Given the description of an element on the screen output the (x, y) to click on. 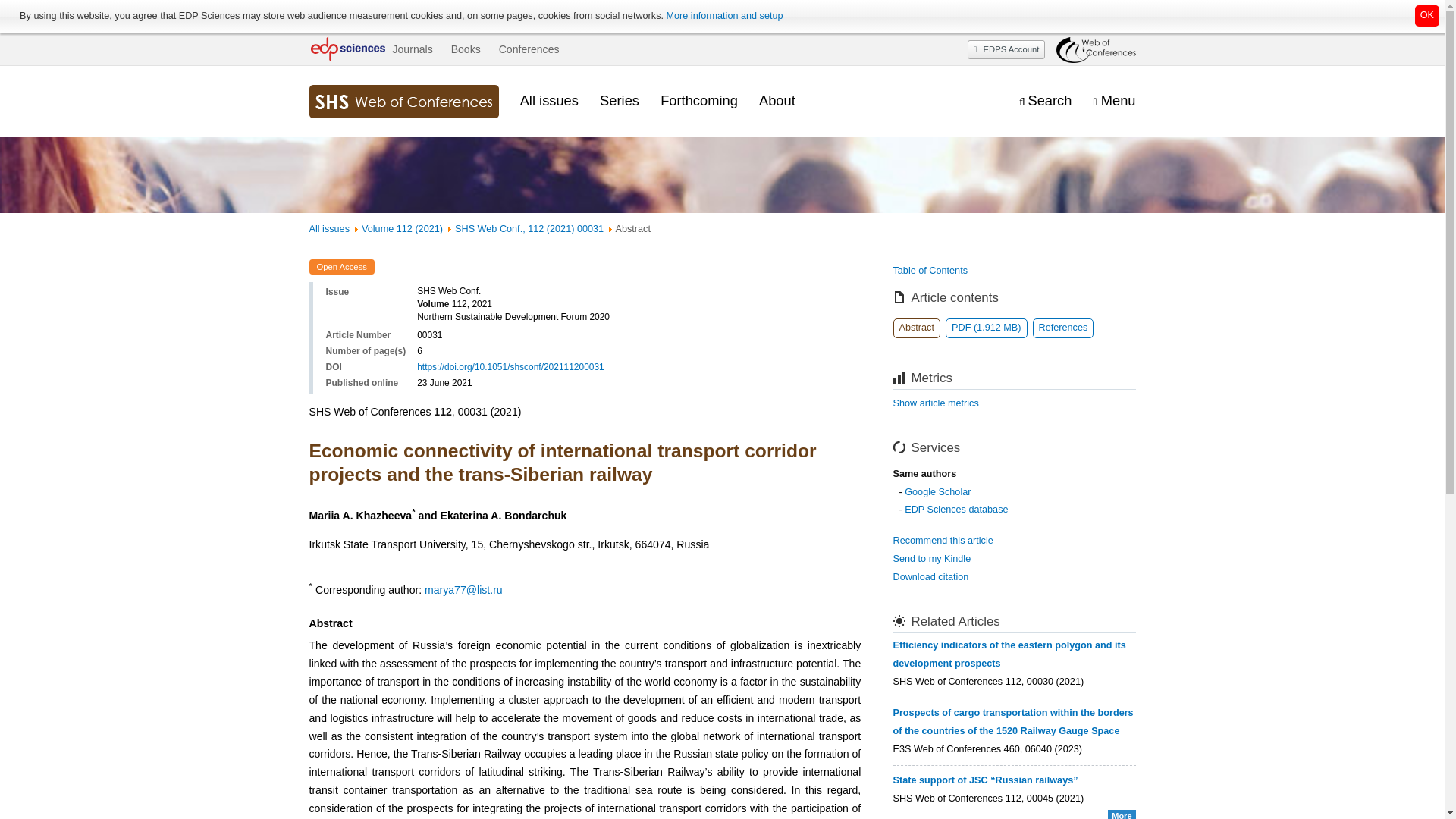
OK (1427, 15)
Conferences (529, 49)
More information and setup (724, 15)
Journal homepage (403, 101)
Books (465, 49)
Click to close this notification (1427, 15)
Display the search engine (1045, 101)
Journals (411, 49)
Abstract (916, 328)
